Given the description of an element on the screen output the (x, y) to click on. 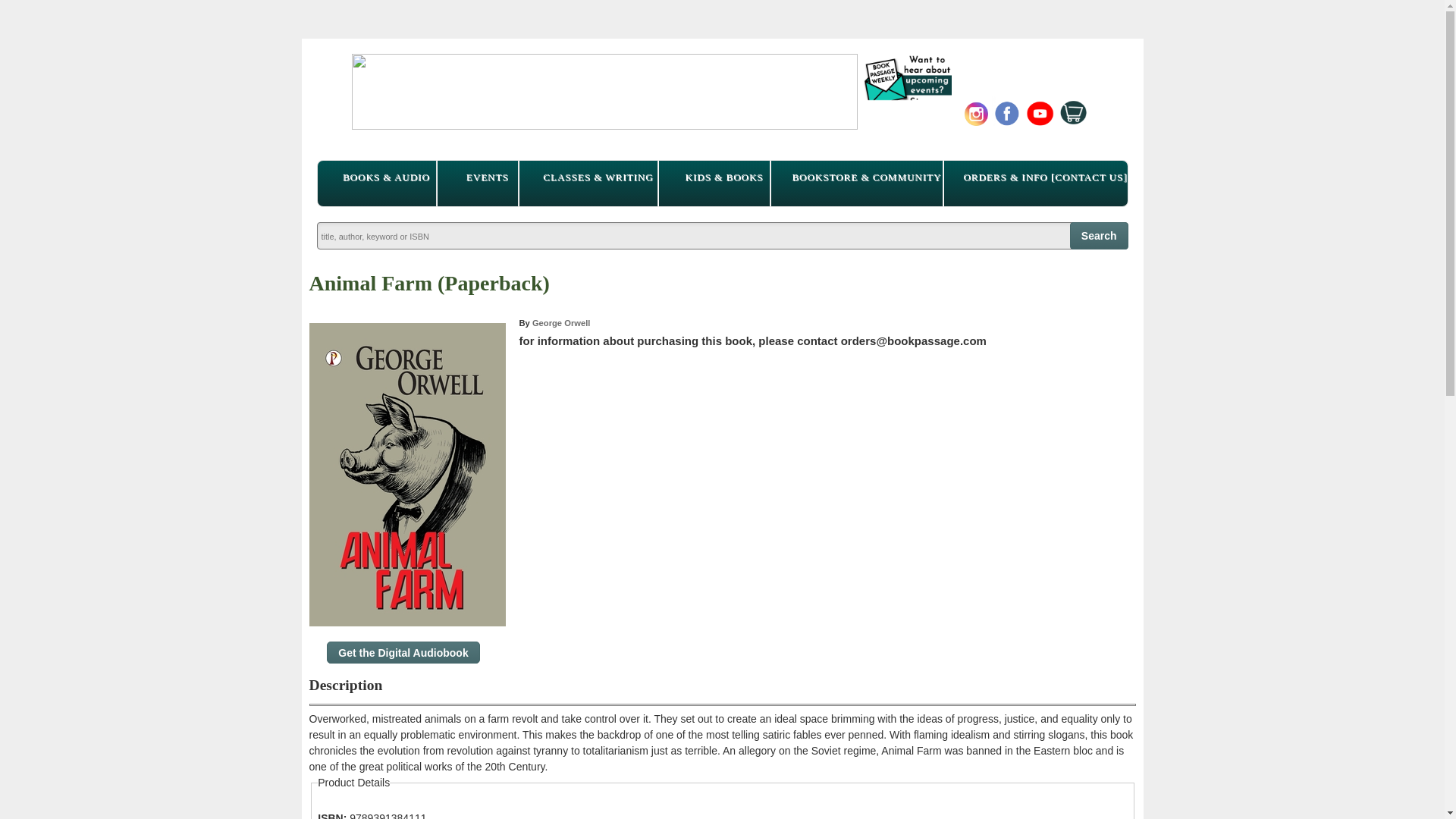
Search (1099, 235)
Get the Digital Audiobook (402, 652)
